Given the description of an element on the screen output the (x, y) to click on. 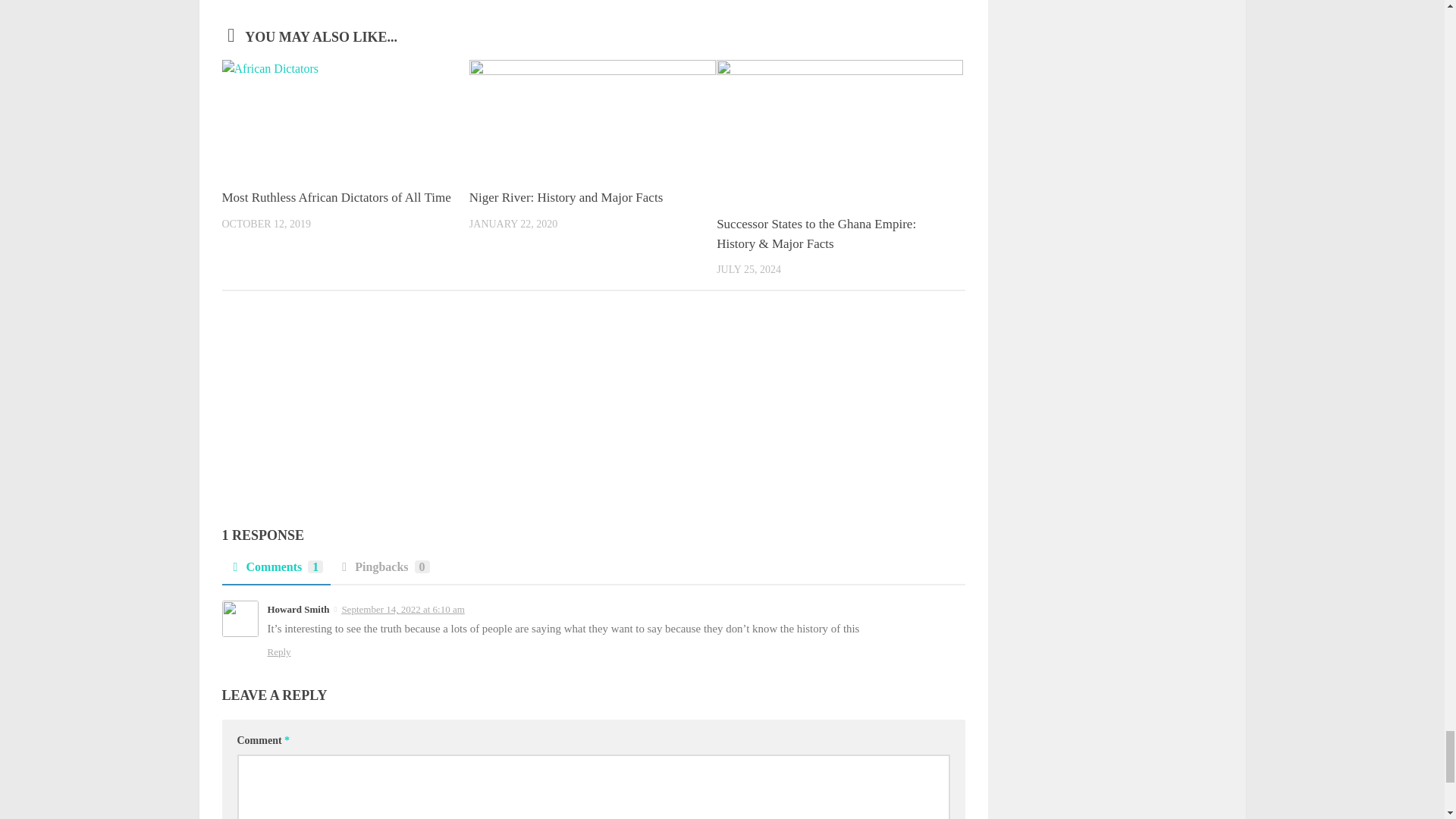
Niger River: History and Major Facts (565, 197)
Pingbacks0 (383, 571)
Comments1 (275, 571)
Most Ruthless African Dictators of All Time (335, 197)
